Given the description of an element on the screen output the (x, y) to click on. 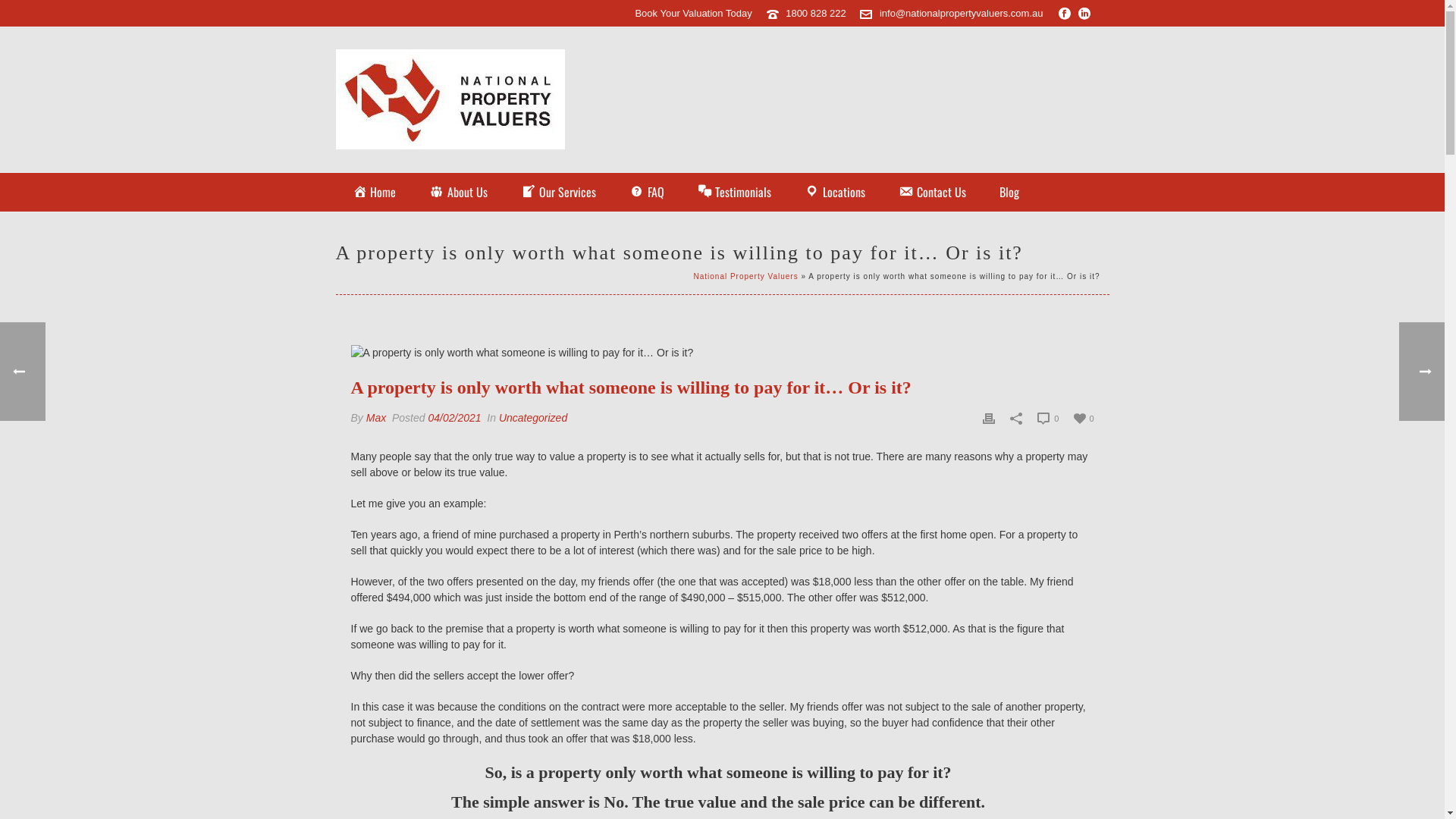
About Us Element type: text (458, 191)
Locations Element type: text (834, 191)
Home Element type: text (373, 191)
Print Element type: hover (988, 418)
Testimonials Element type: text (734, 191)
  Element type: text (721, 352)
Uncategorized Element type: text (532, 417)
National Property Valuers Element type: hover (449, 99)
0 Element type: text (1047, 418)
Max Element type: text (375, 417)
1800 828 222 Element type: text (815, 12)
Contact Us Element type: text (931, 191)
Blog Element type: text (1008, 191)
Independent Property Valuations Element type: hover (449, 99)
04/02/2021 Element type: text (453, 417)
info@nationalpropertyvaluers.com.au Element type: text (961, 12)
0 Element type: text (1083, 417)
Our Services Element type: text (558, 191)
FAQ Element type: text (646, 191)
National Property Valuers Element type: text (745, 276)
